Given the description of an element on the screen output the (x, y) to click on. 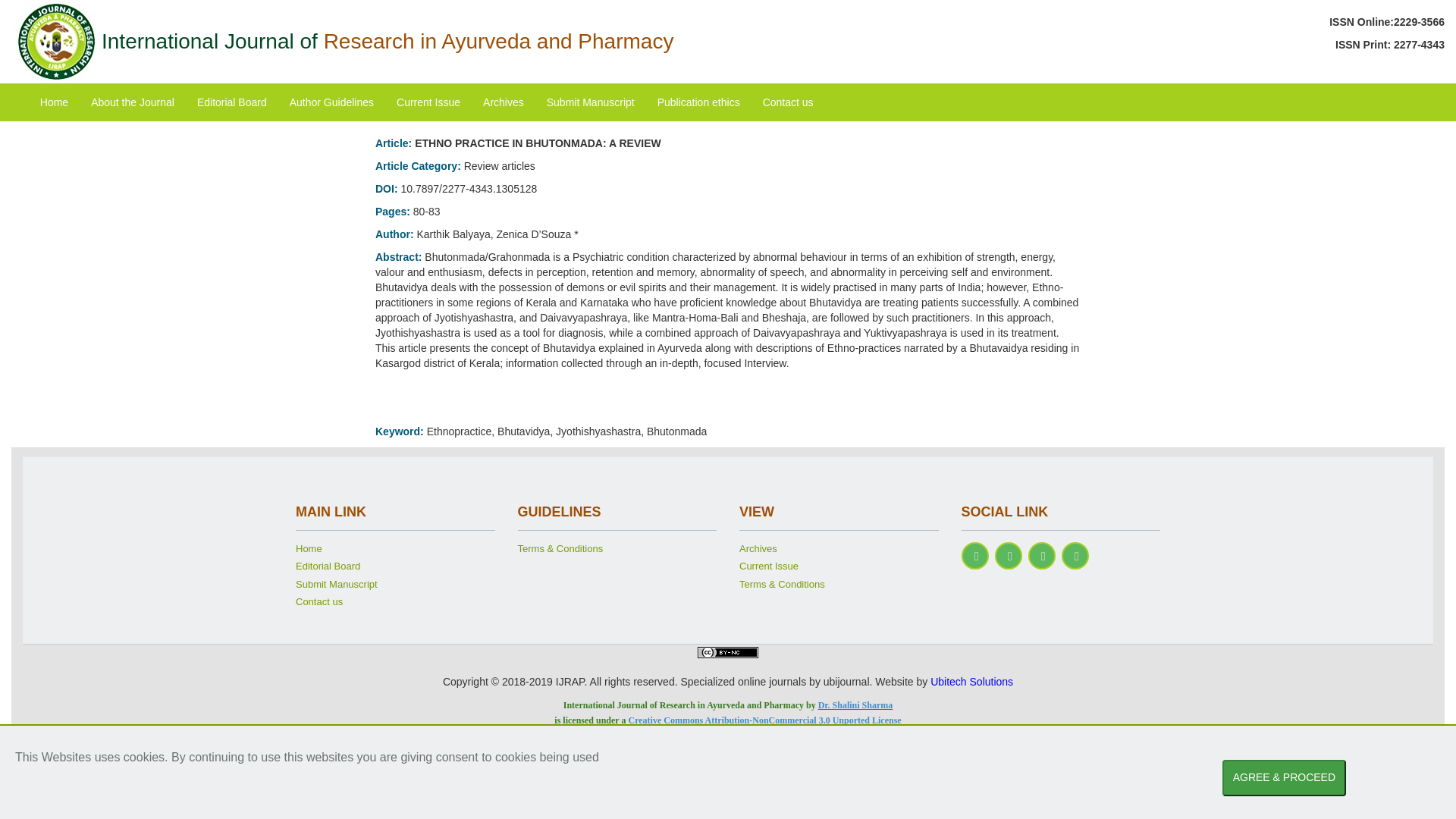
Submit Manuscript (395, 587)
Dr. Shalini Sharma (855, 705)
Home (54, 102)
Author Guidelines (331, 102)
Submit Manuscript (590, 102)
Editorial Board (395, 568)
Current Issue (839, 568)
Current Issue (428, 102)
Contact us (395, 604)
